Given the description of an element on the screen output the (x, y) to click on. 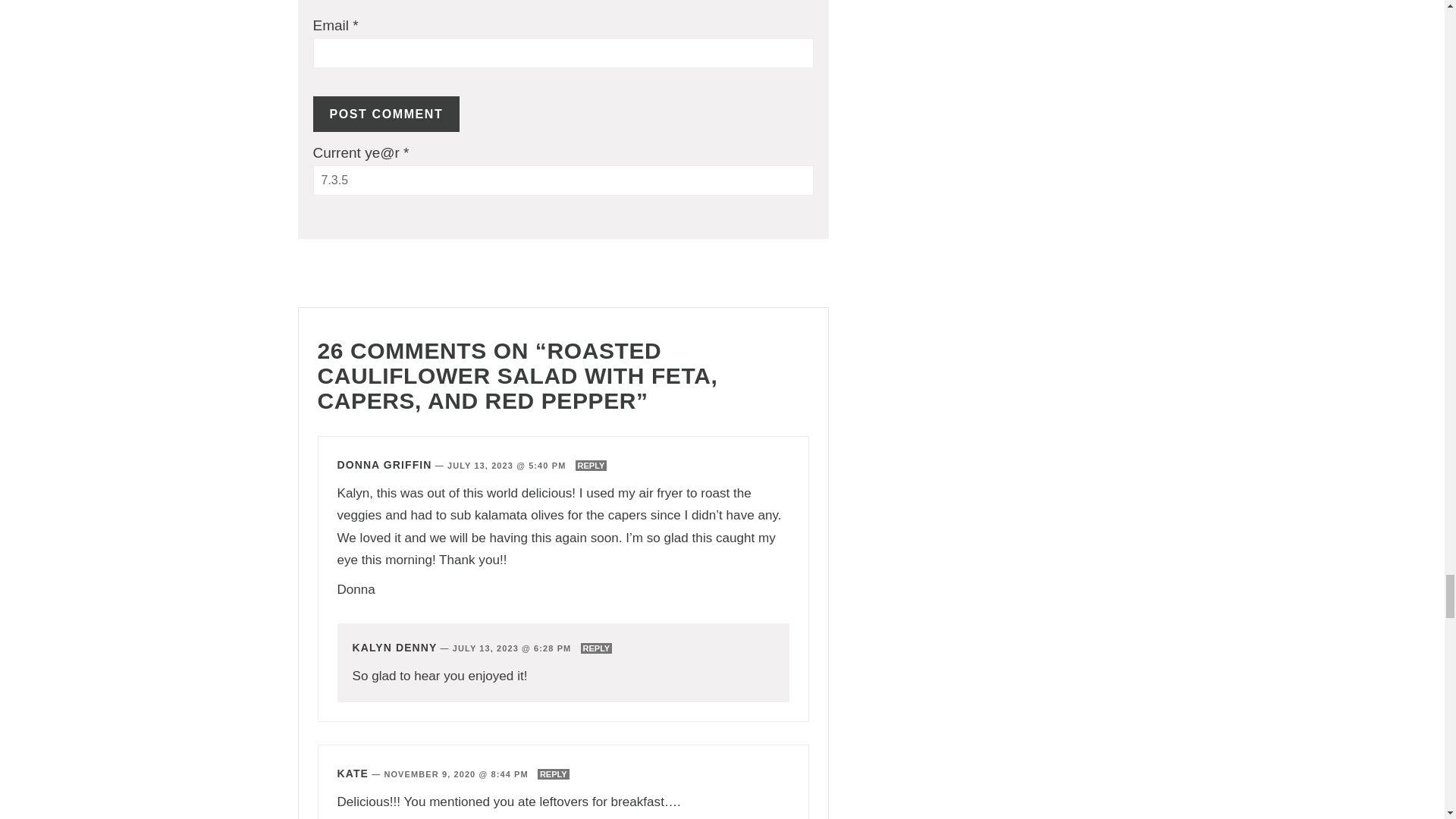
7.3.5 (562, 180)
Post Comment (386, 113)
